Given the description of an element on the screen output the (x, y) to click on. 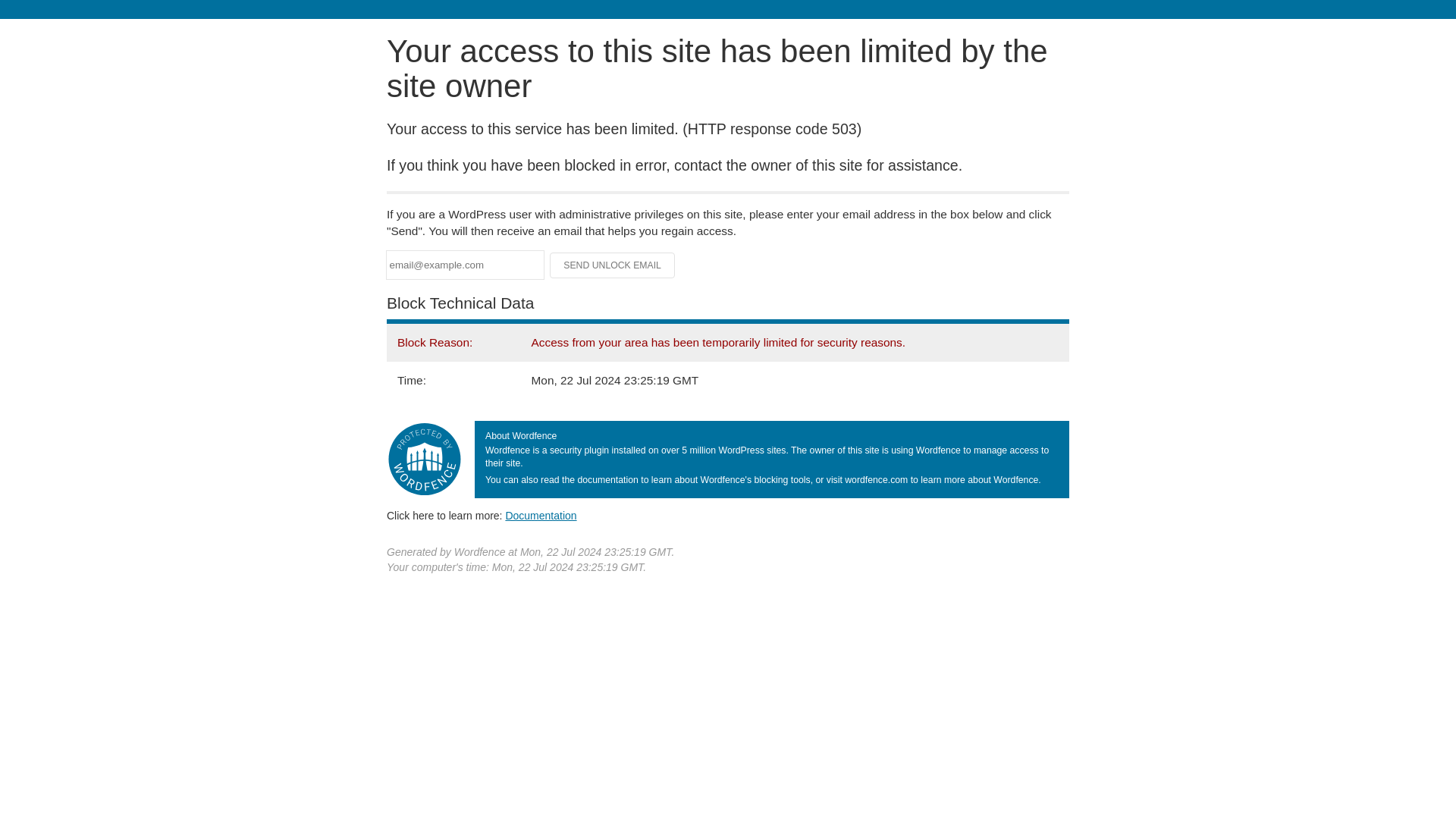
Send Unlock Email (612, 265)
Send Unlock Email (612, 265)
Documentation (540, 515)
